Given the description of an element on the screen output the (x, y) to click on. 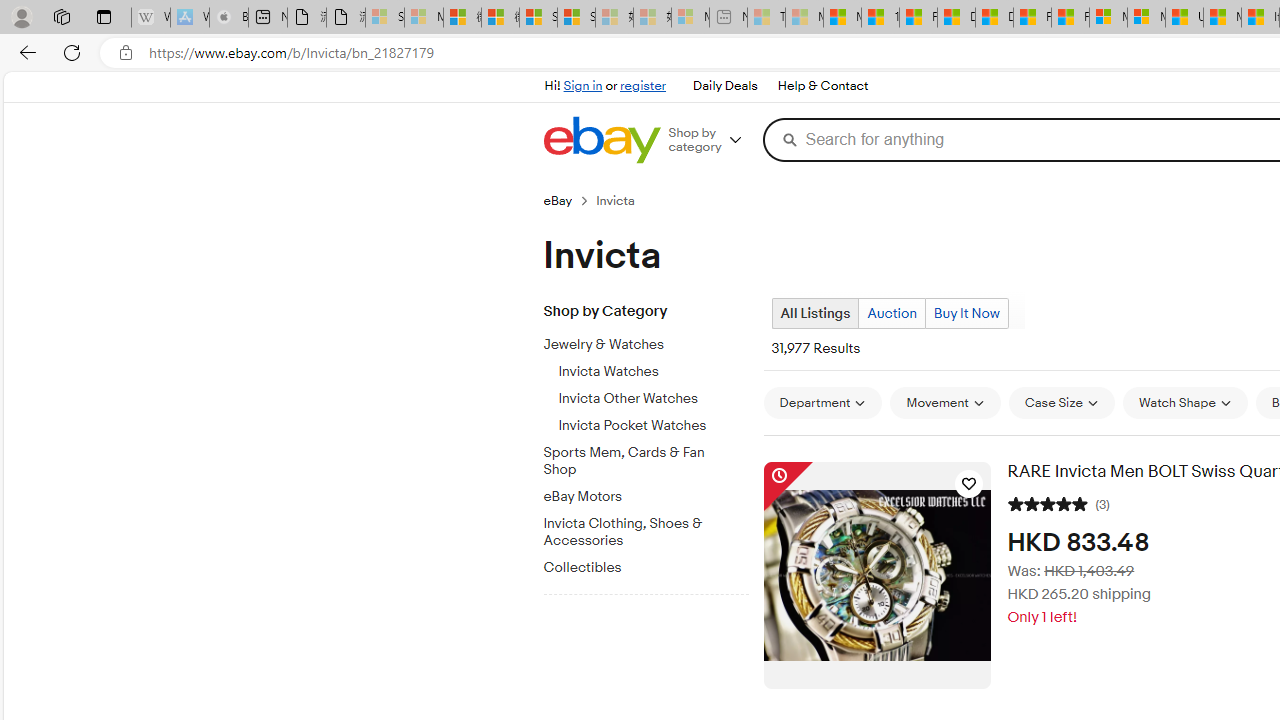
Invicta (623, 200)
Invicta Clothing, Shoes & Accessories (653, 528)
Sports Mem, Cards & Fan Shop (637, 462)
Watch Shape (1185, 403)
Foo BAR | Trusted Community Engagement and Contributions (1070, 17)
Movement (944, 403)
eBay Home (601, 139)
eBay Motors (653, 493)
